Given the description of an element on the screen output the (x, y) to click on. 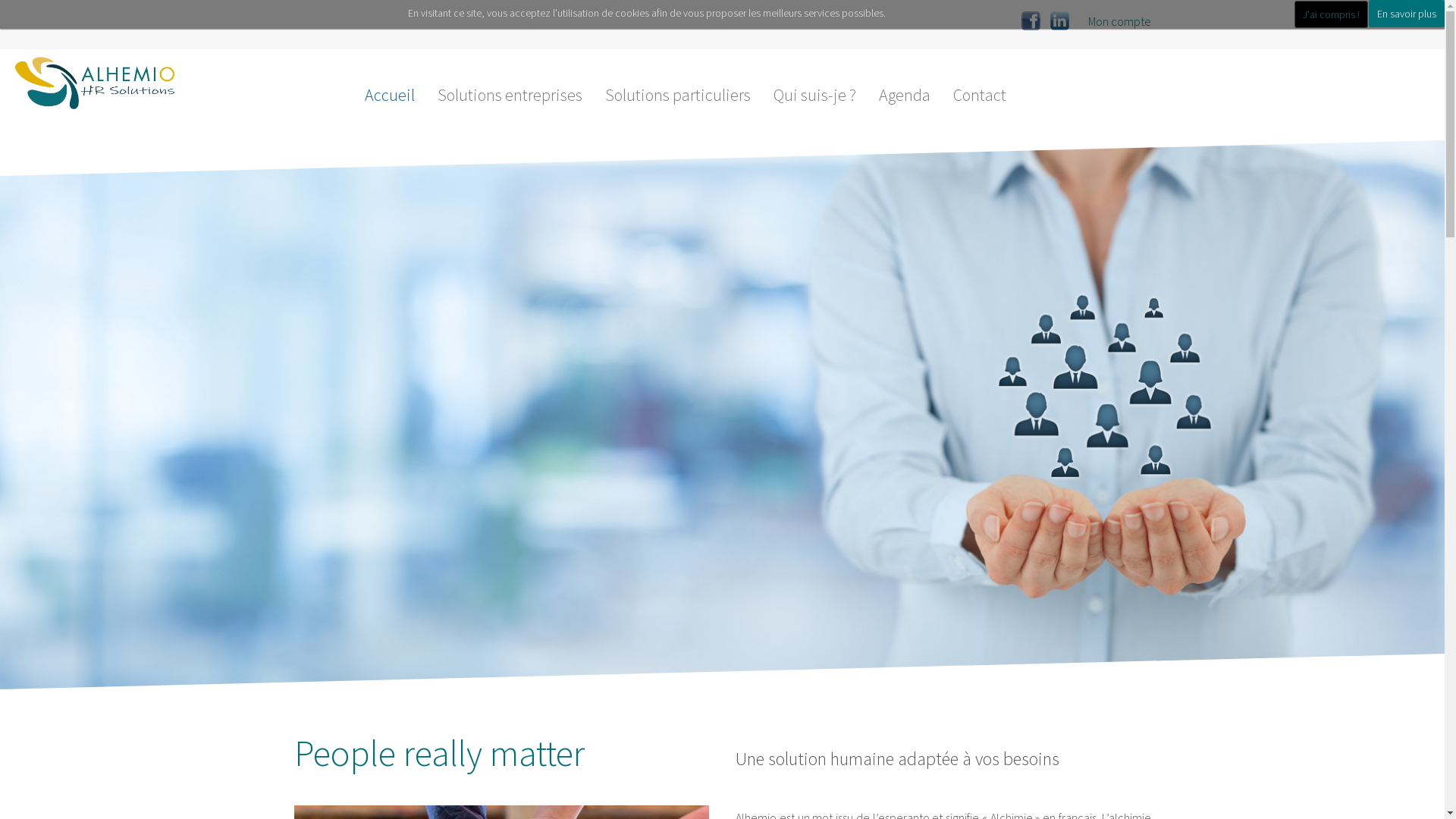
Qui suis-je ? Element type: text (813, 94)
Accueil Element type: text (389, 94)
J'ai compris ! Element type: text (1331, 14)
Mon compte Element type: text (1118, 20)
Agenda Element type: text (904, 94)
En savoir plus Element type: text (1406, 13)
Solutions entreprises Element type: text (509, 94)
Contact Element type: text (979, 94)
Solutions particuliers Element type: text (677, 94)
